Given the description of an element on the screen output the (x, y) to click on. 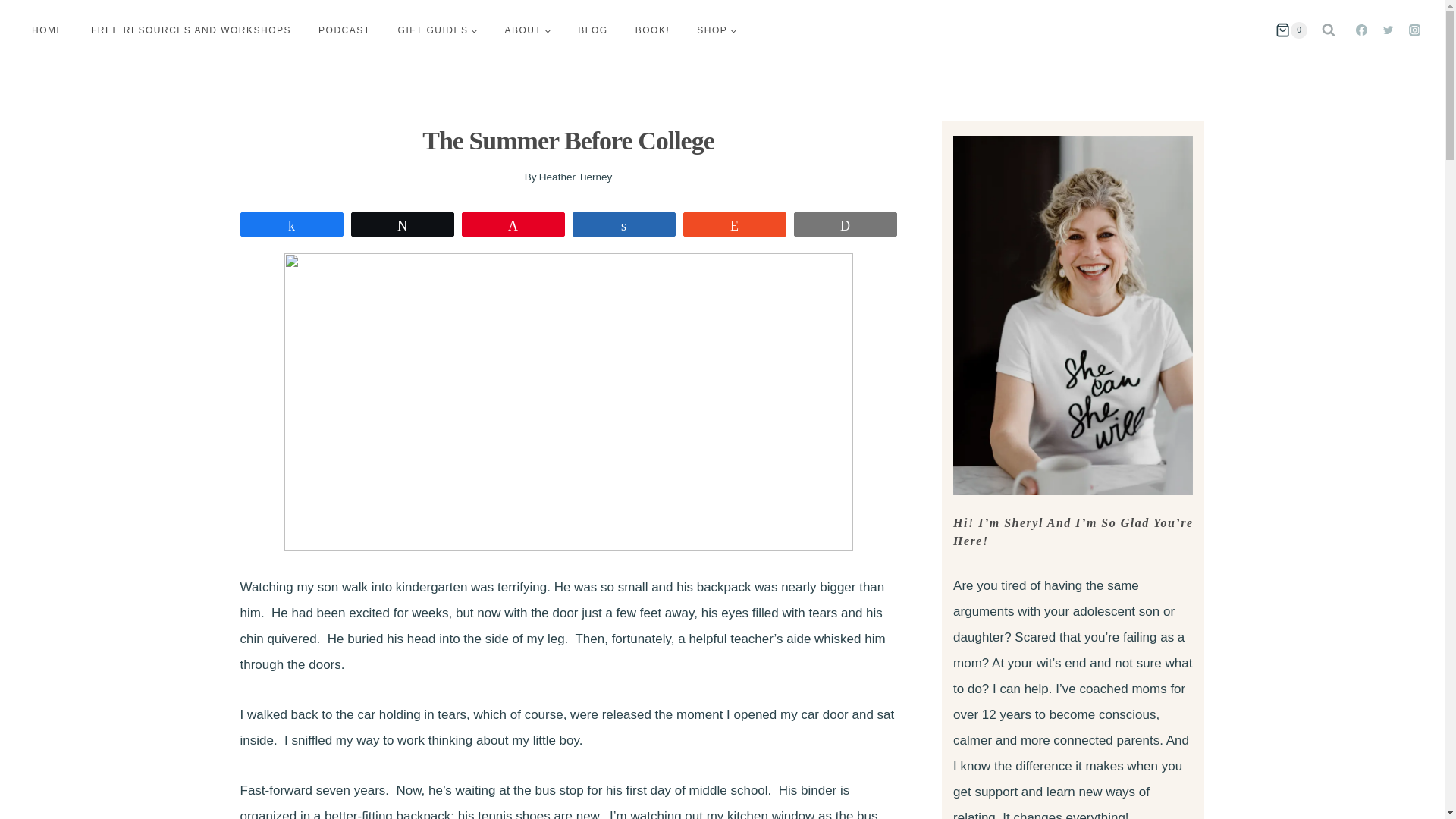
HOME (47, 30)
BLOG (592, 30)
PODCAST (344, 30)
SHOP (715, 30)
0 (1291, 30)
ABOUT (528, 30)
Heather Tierney (575, 176)
FREE RESOURCES AND WORKSHOPS (190, 30)
GIFT GUIDES (438, 30)
BOOK! (652, 30)
